Given the description of an element on the screen output the (x, y) to click on. 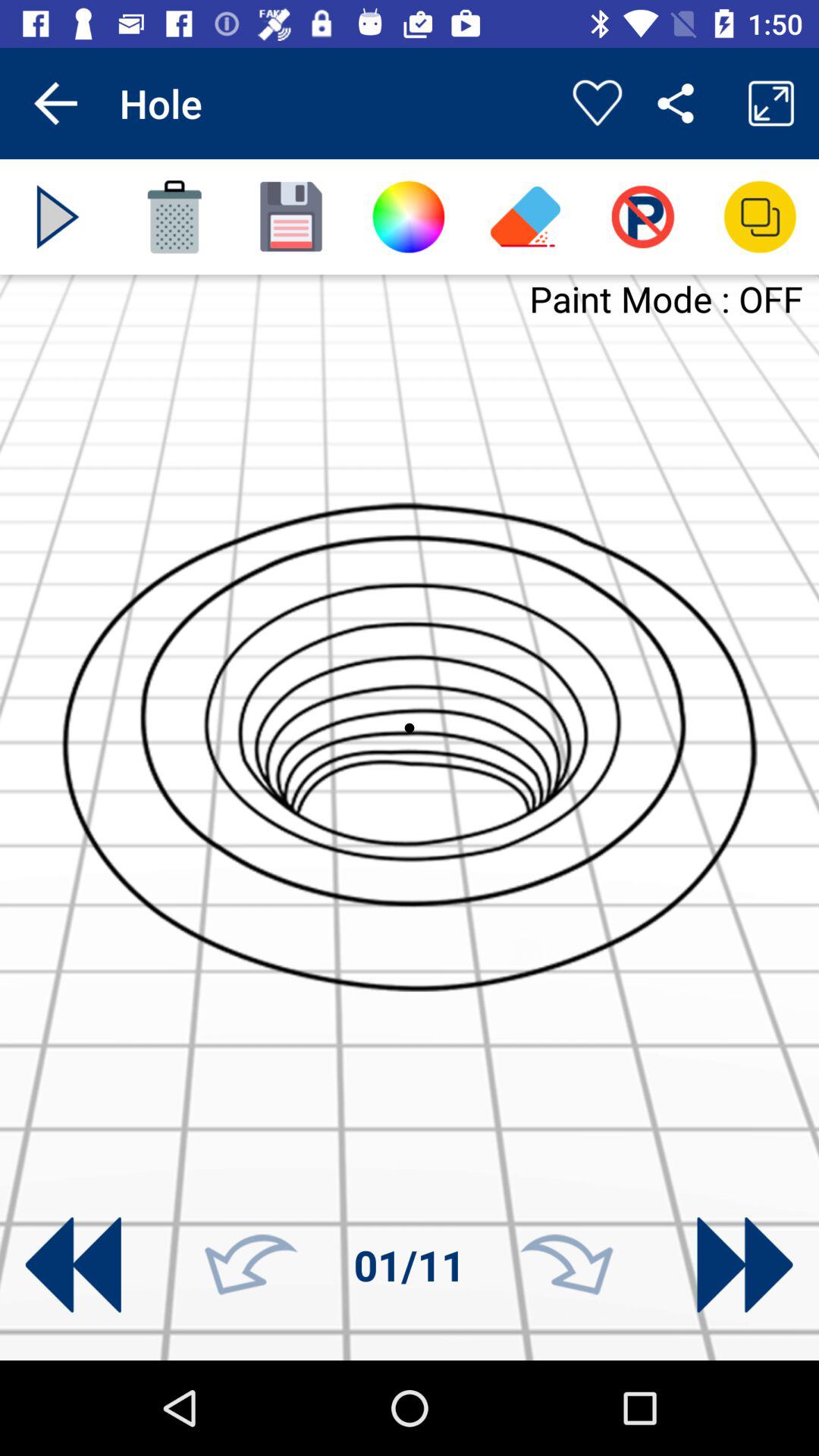
next number (566, 1264)
